Given the description of an element on the screen output the (x, y) to click on. 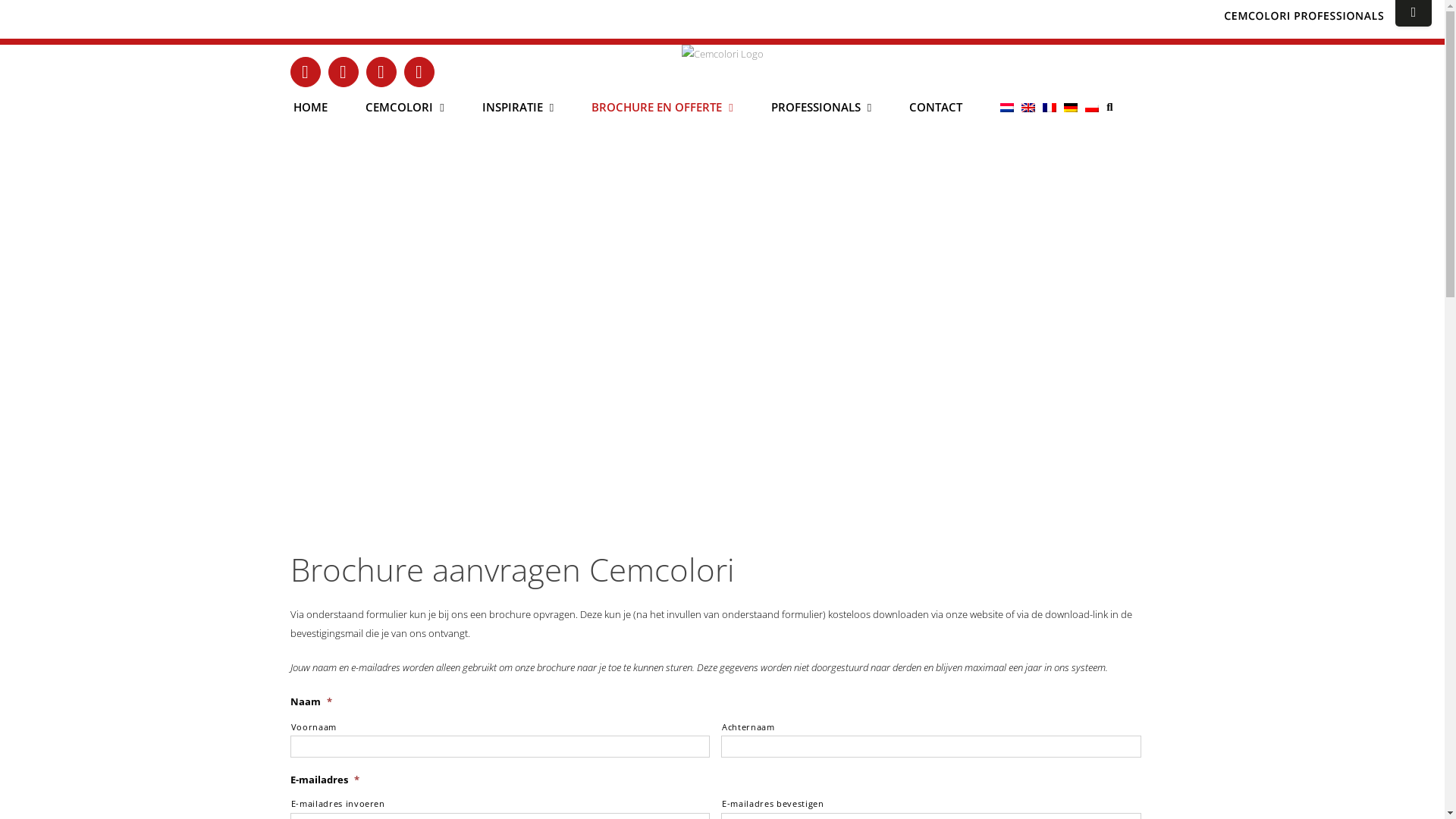
Zoeken Element type: hover (1109, 107)
YouTube Element type: text (342, 71)
BROCHURE EN OFFERTE Element type: text (661, 107)
Toggle Sliding Bar Area Element type: text (1413, 13)
INSPIRATIE Element type: text (517, 107)
CONTACT Element type: text (935, 107)
Facebook Element type: text (304, 71)
HOME Element type: text (310, 107)
Pinterest Element type: text (418, 71)
Instagram Element type: text (380, 71)
PROFESSIONALS Element type: text (821, 107)
CEMCOLORI Element type: text (404, 107)
